Given the description of an element on the screen output the (x, y) to click on. 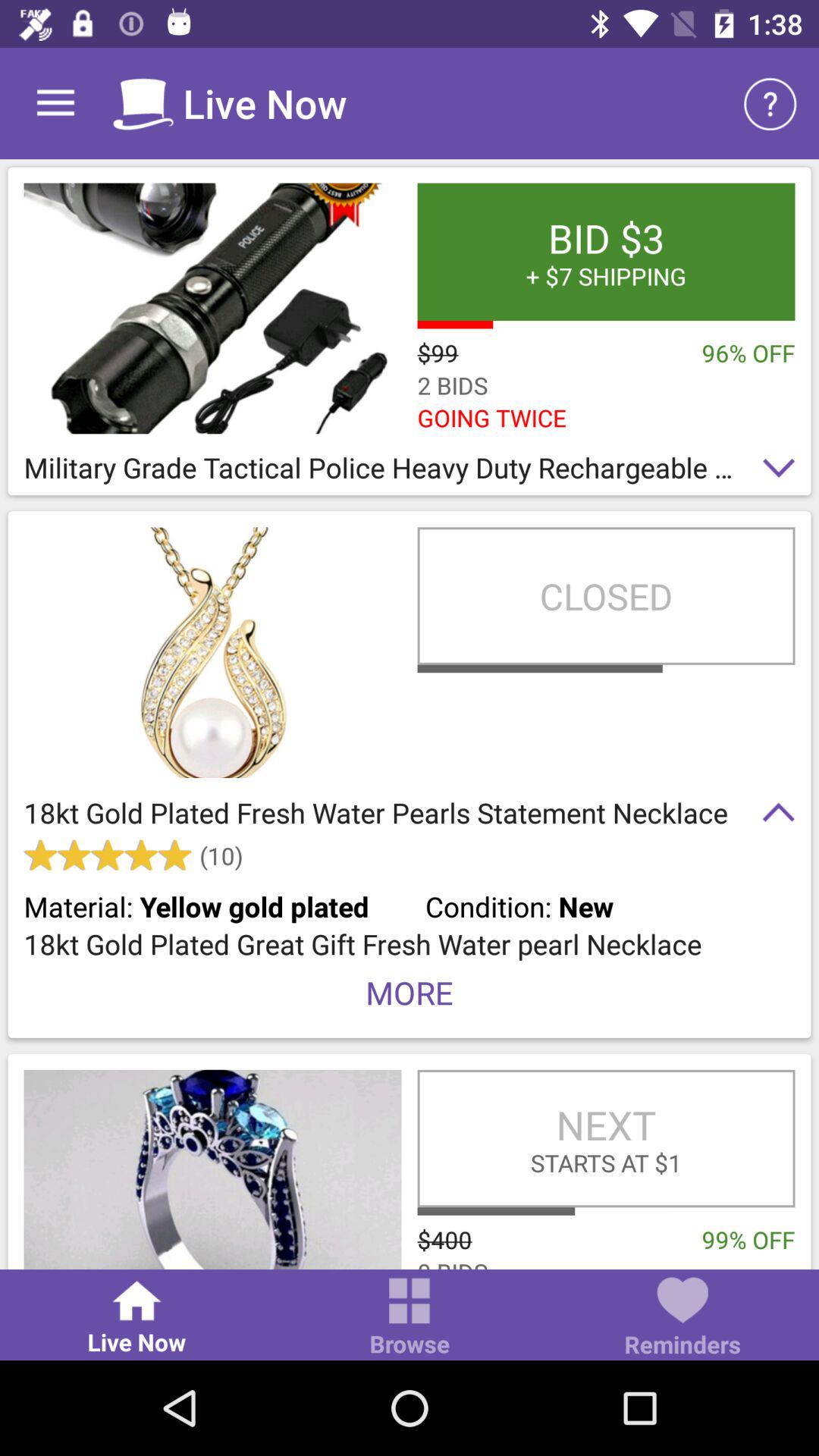
press the next starts at item (606, 1138)
